Given the description of an element on the screen output the (x, y) to click on. 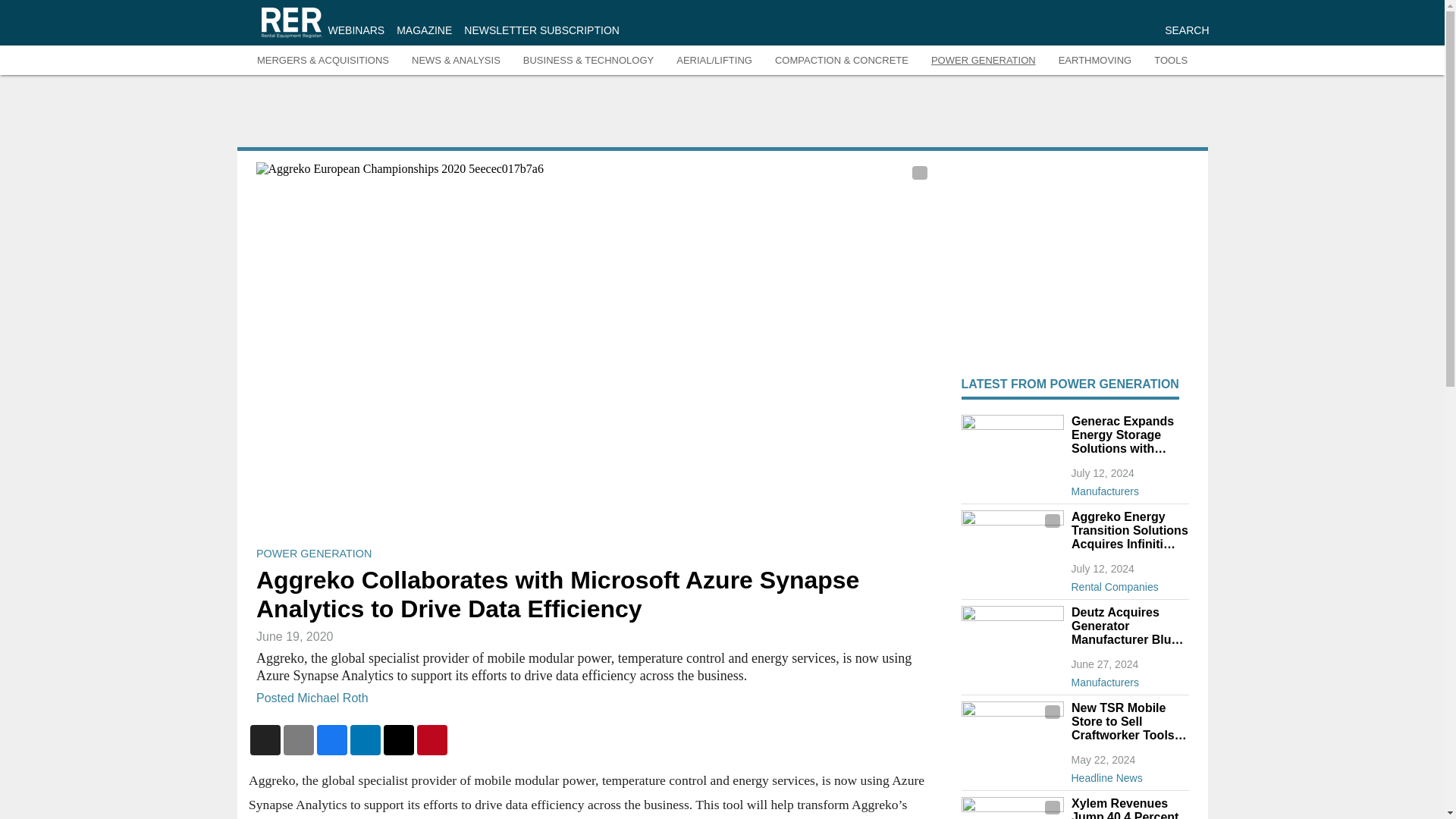
Rental Companies (1129, 583)
Posted Michael Roth (312, 697)
MAGAZINE (423, 30)
Manufacturers (1129, 488)
POWER GENERATION (313, 553)
Manufacturers (1129, 679)
Headline News (1129, 774)
POWER GENERATION (983, 60)
NEWSLETTER SUBSCRIPTION (542, 30)
SEARCH (1186, 30)
TOOLS (1171, 60)
